Given the description of an element on the screen output the (x, y) to click on. 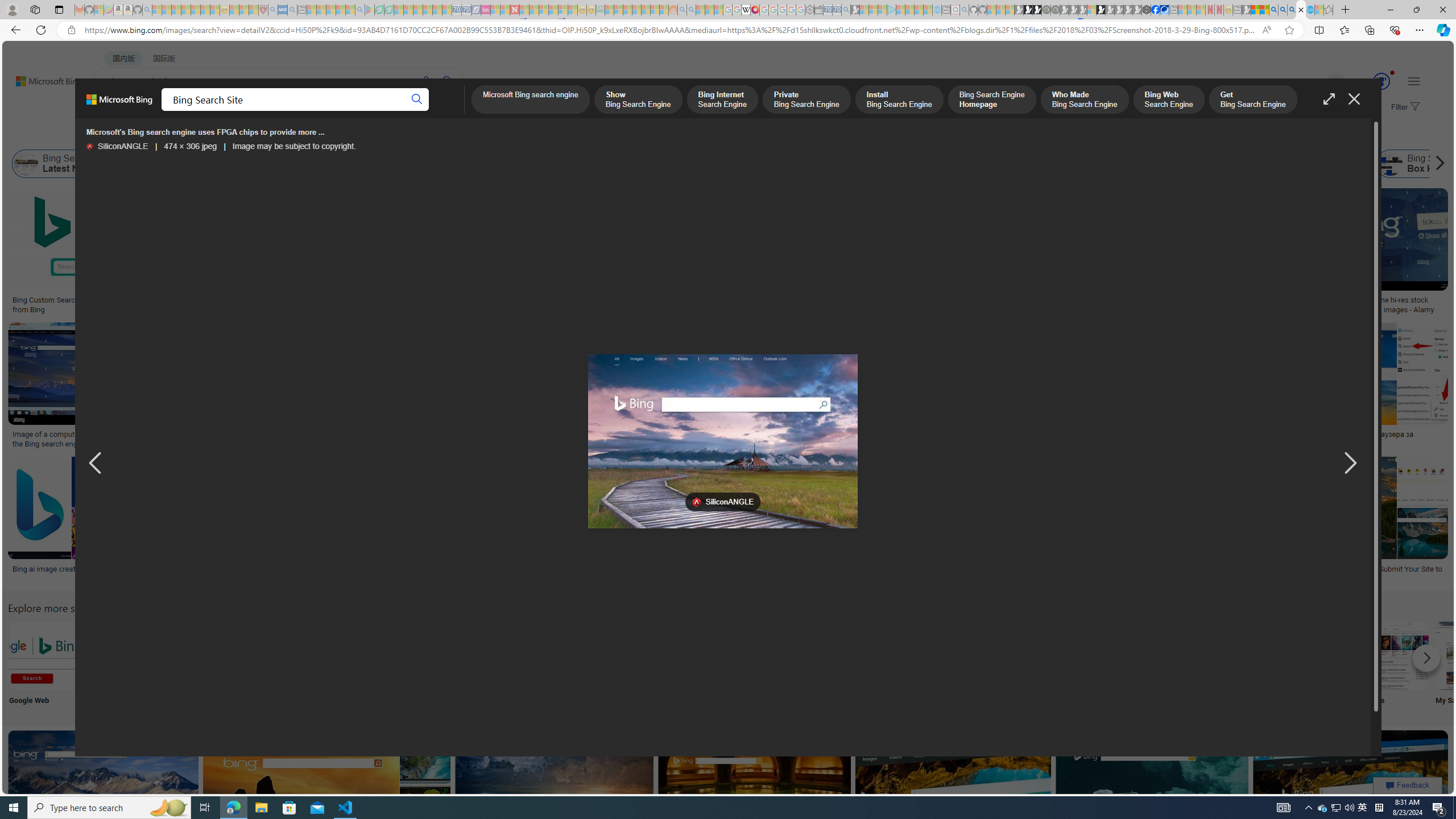
Bing Clip ART SEARCH Clip Art (493, 665)
New (1169, 665)
Bing Custom Search: A New Site Search Solution from Bing (96, 304)
IMAGES (205, 111)
Hoodies (802, 261)
Bar Install (944, 665)
Next image result (1349, 463)
Bing Clip ART SEARCH (493, 654)
Bing Advanced Search Tricks You Should KnowSave (462, 252)
Date (336, 135)
Layout (252, 135)
Bing Random Search (794, 654)
